Given the description of an element on the screen output the (x, y) to click on. 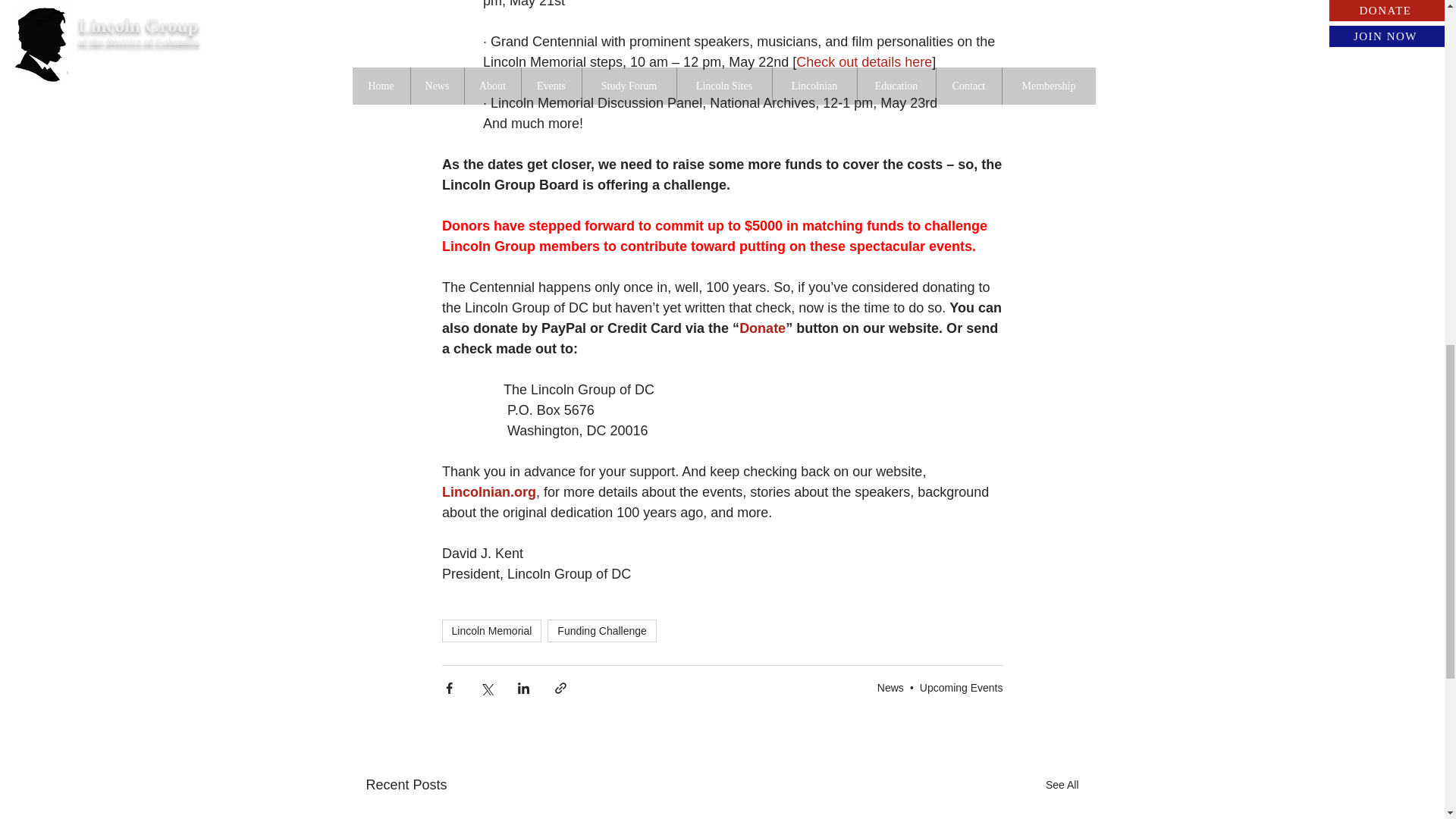
News (890, 687)
Check out details here (863, 61)
Donate (762, 328)
Lincoln Memorial (491, 630)
Funding Challenge (601, 630)
Lincolnian.org (488, 491)
